Given the description of an element on the screen output the (x, y) to click on. 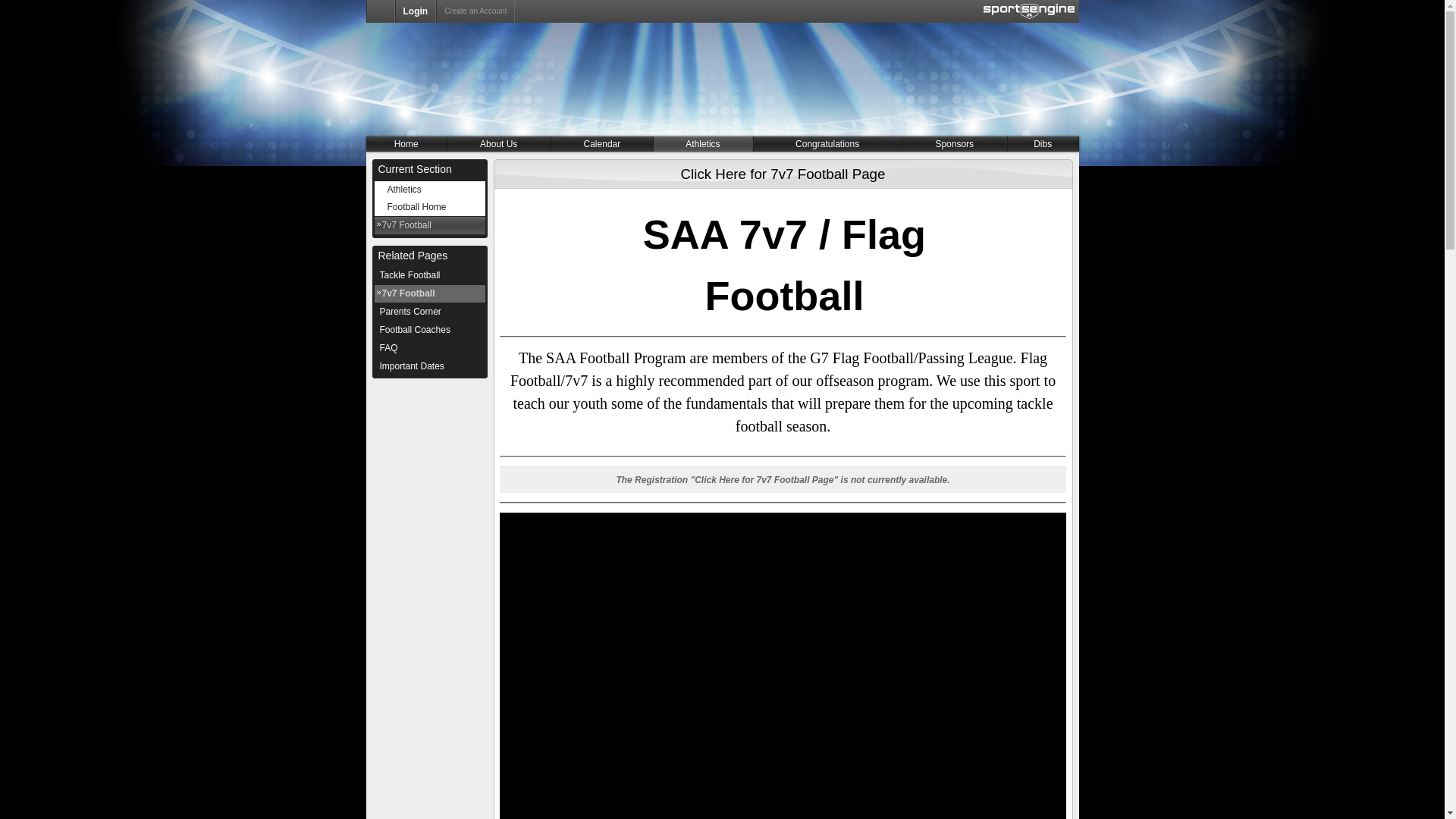
Login (414, 11)
click to go to 'Home' (405, 143)
Calendar (602, 143)
About Us (498, 143)
Create an Account (475, 11)
Athletics (702, 143)
Shiloh Athletic Association Homepage (379, 11)
SportsEngine (1028, 11)
Create an Account (475, 11)
Home (405, 143)
